Given the description of an element on the screen output the (x, y) to click on. 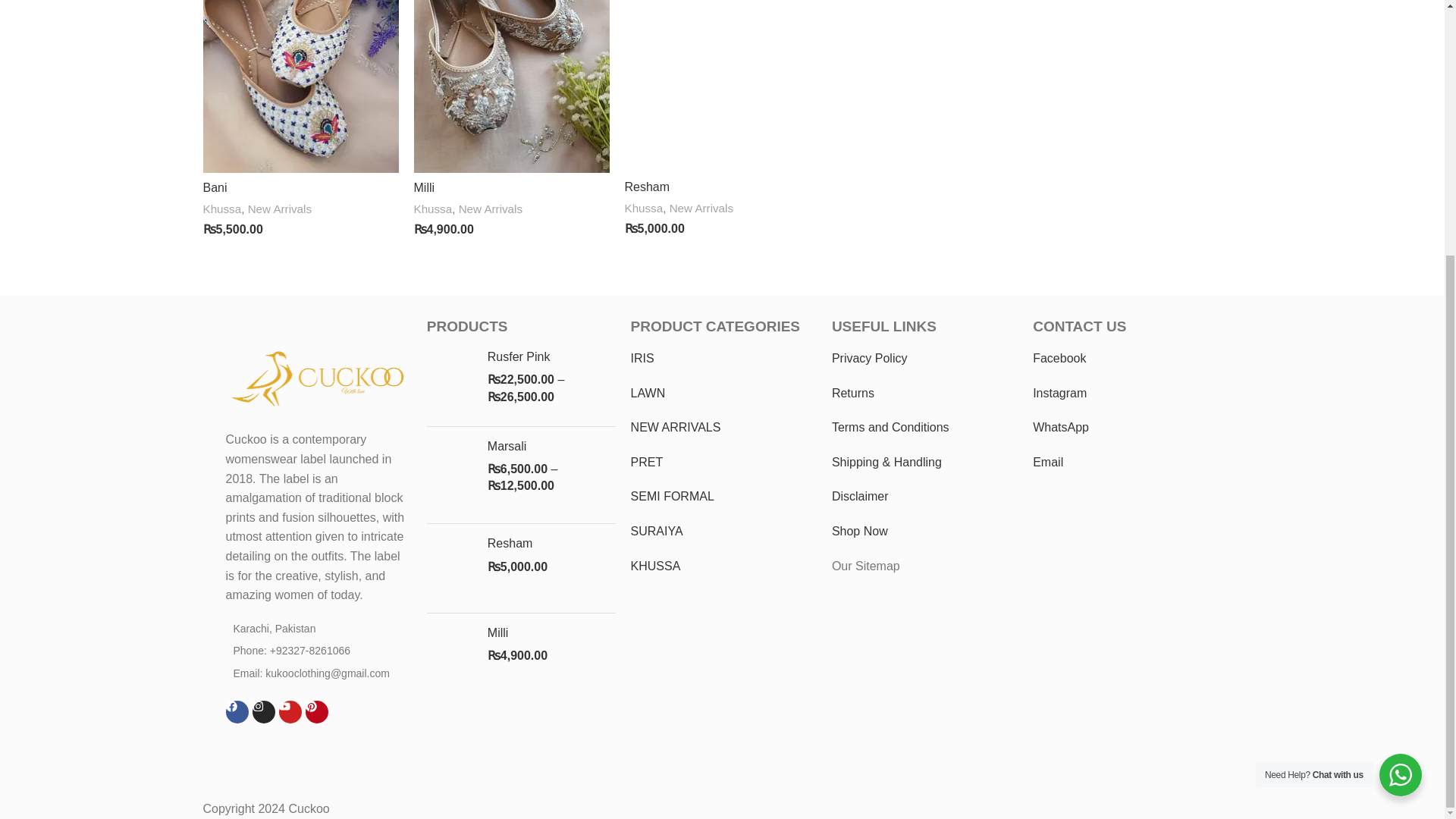
Milli (551, 632)
Rusfer Pink (551, 356)
Resham (551, 543)
Marsali (551, 446)
